Given the description of an element on the screen output the (x, y) to click on. 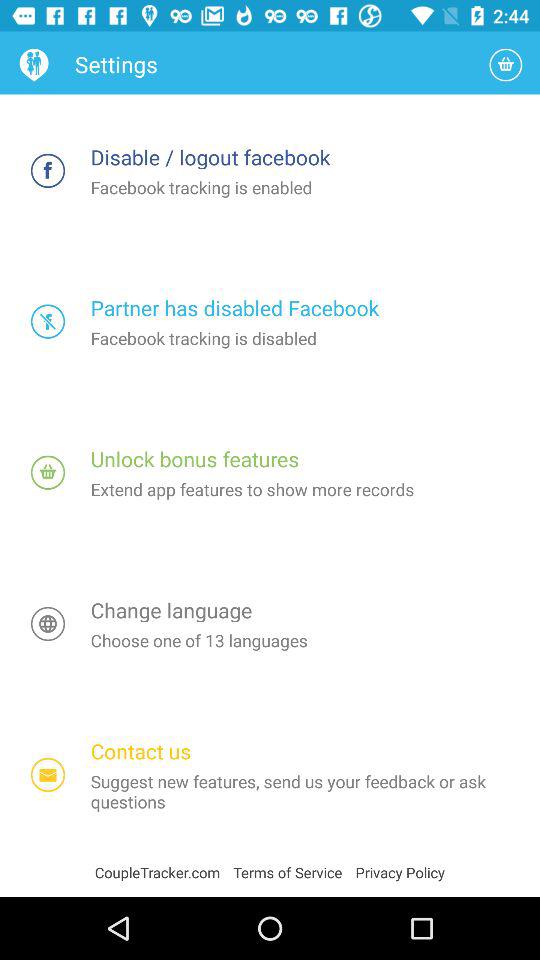
launch the item to the right of terms of service (399, 872)
